Given the description of an element on the screen output the (x, y) to click on. 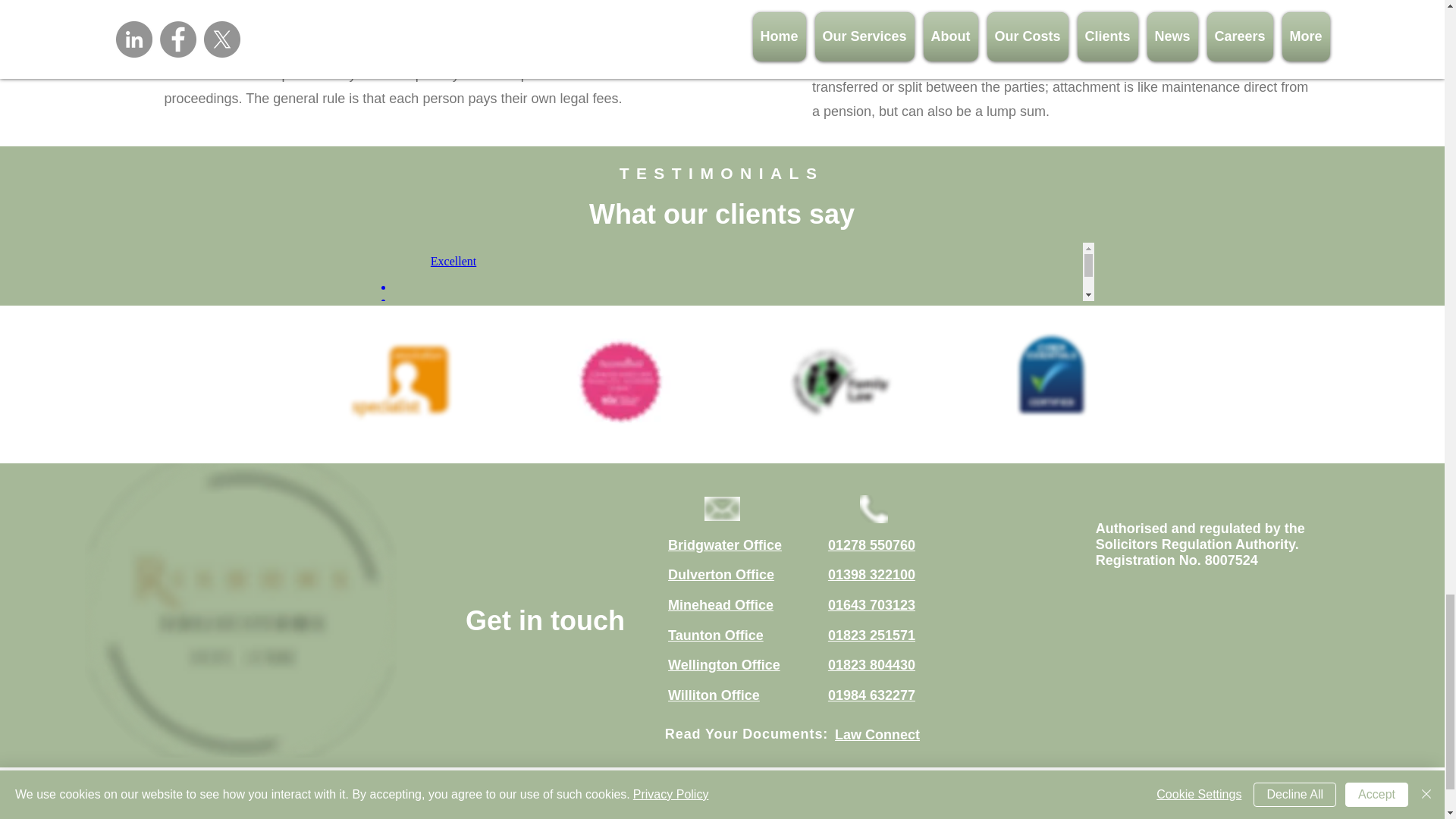
Williton Office (714, 694)
Embedded Content (1199, 642)
Embedded Content (721, 271)
Taunton Office (715, 635)
01398 322100 (871, 574)
01643 703123 (871, 604)
01278 550760 (871, 544)
Dulverton Office (721, 574)
Minehead Office (720, 604)
01823 251571 (871, 635)
Wellington Office (724, 664)
Bridgwater Office (724, 544)
